Given the description of an element on the screen output the (x, y) to click on. 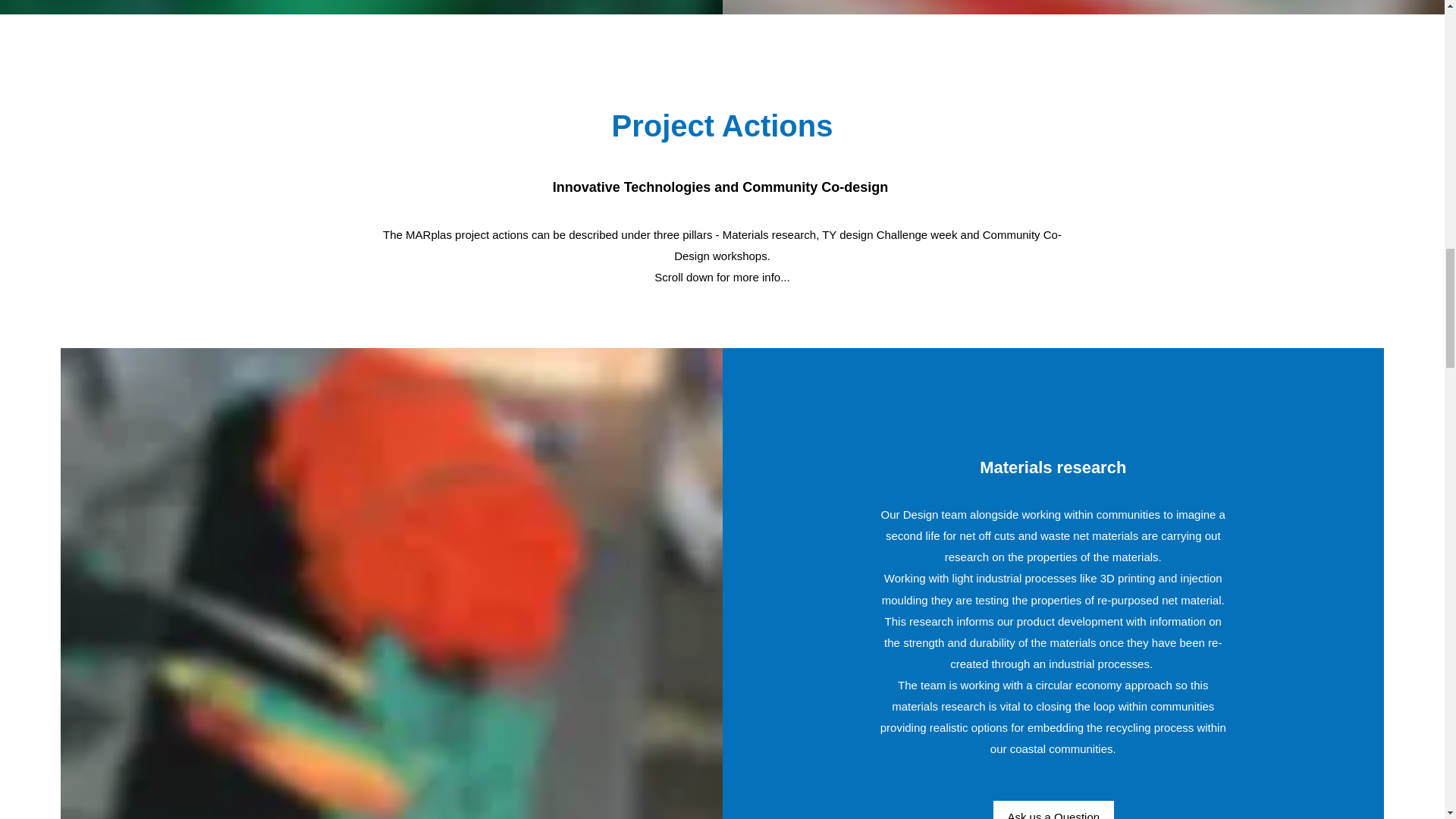
Ask us a Question (1052, 809)
